Given the description of an element on the screen output the (x, y) to click on. 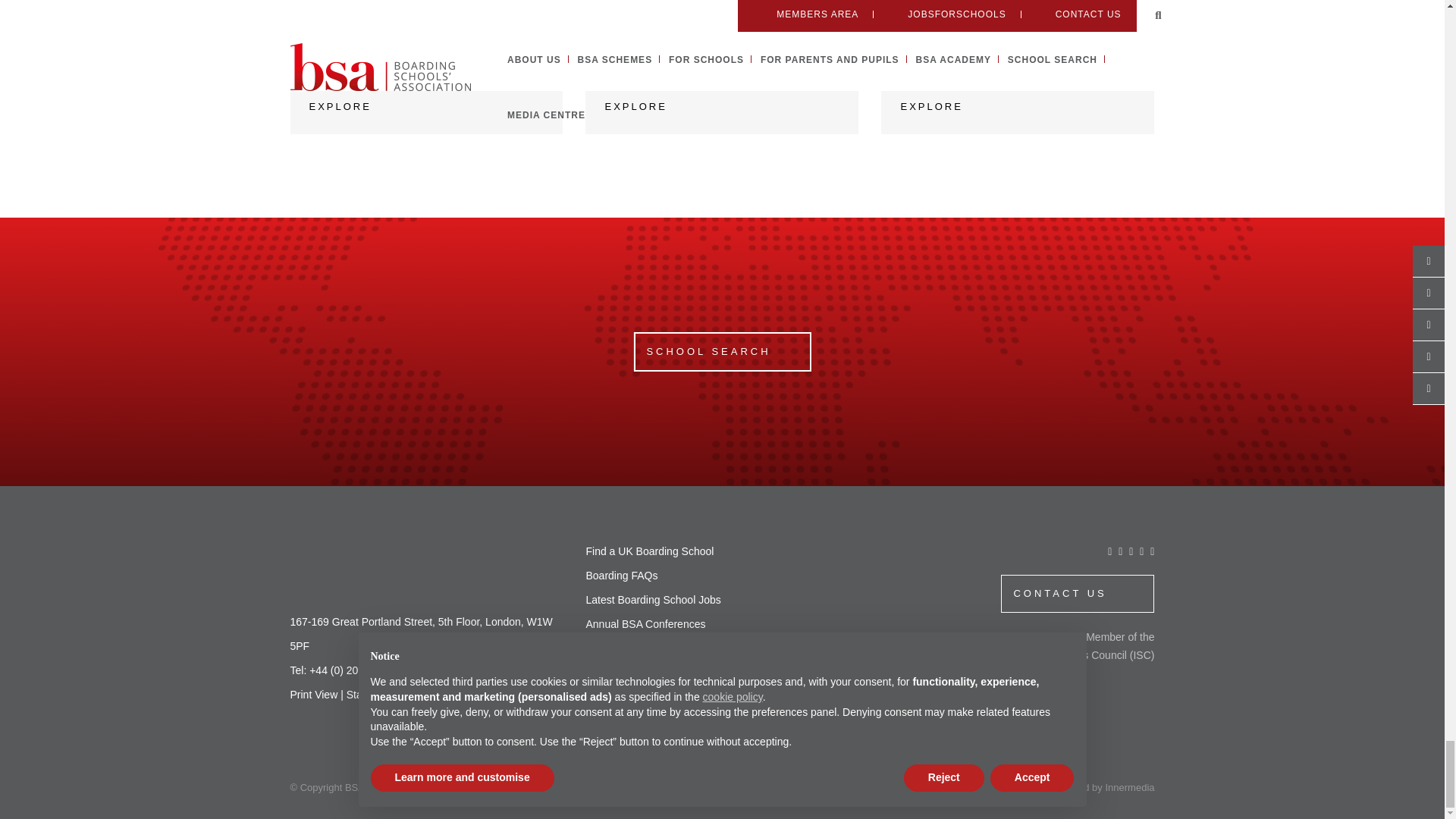
Switch to Print (313, 694)
Switch to High Visibility (454, 694)
Switch to Standard Visibility (380, 694)
